Given the description of an element on the screen output the (x, y) to click on. 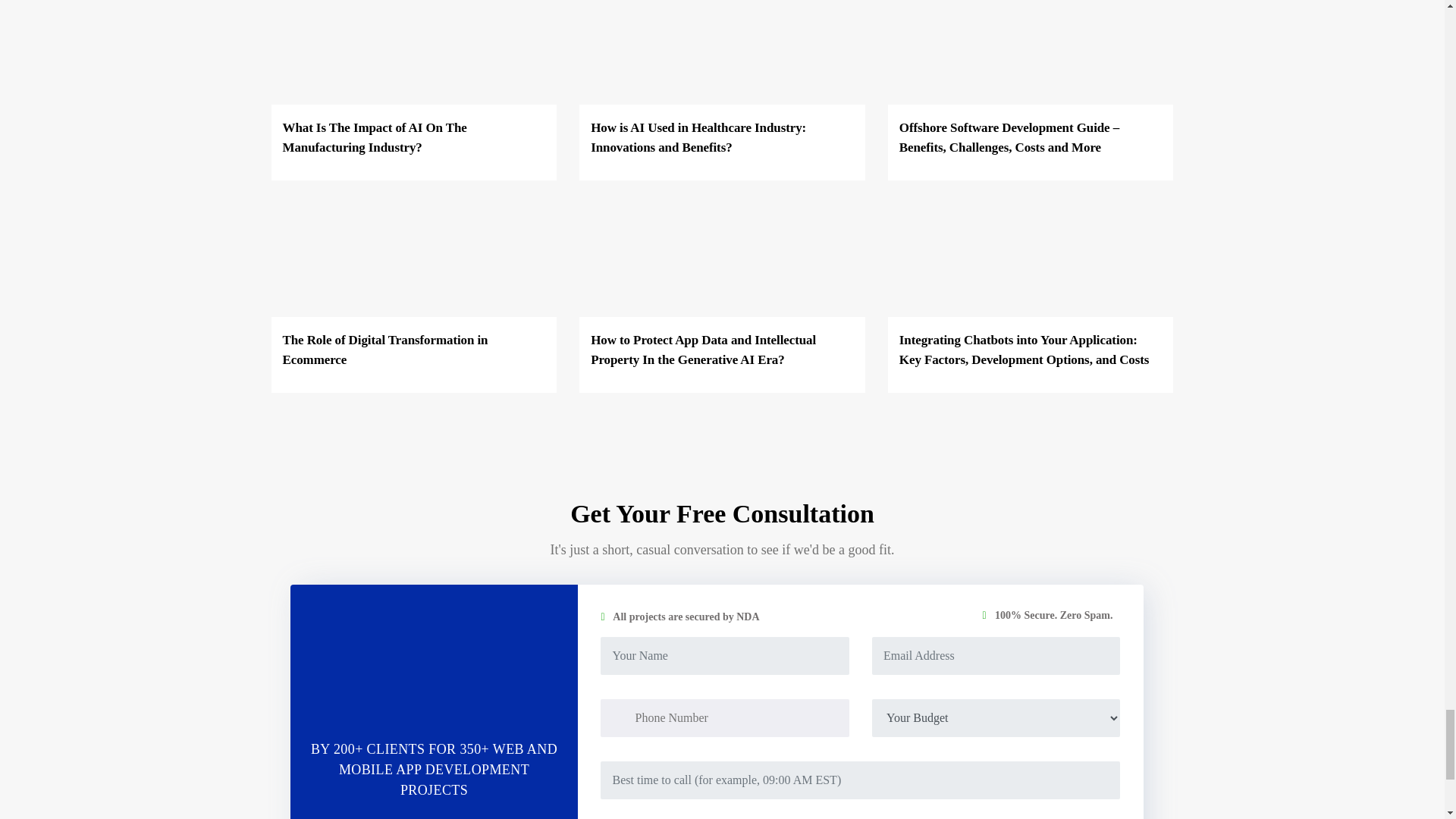
Good Firms Research (433, 664)
